Given the description of an element on the screen output the (x, y) to click on. 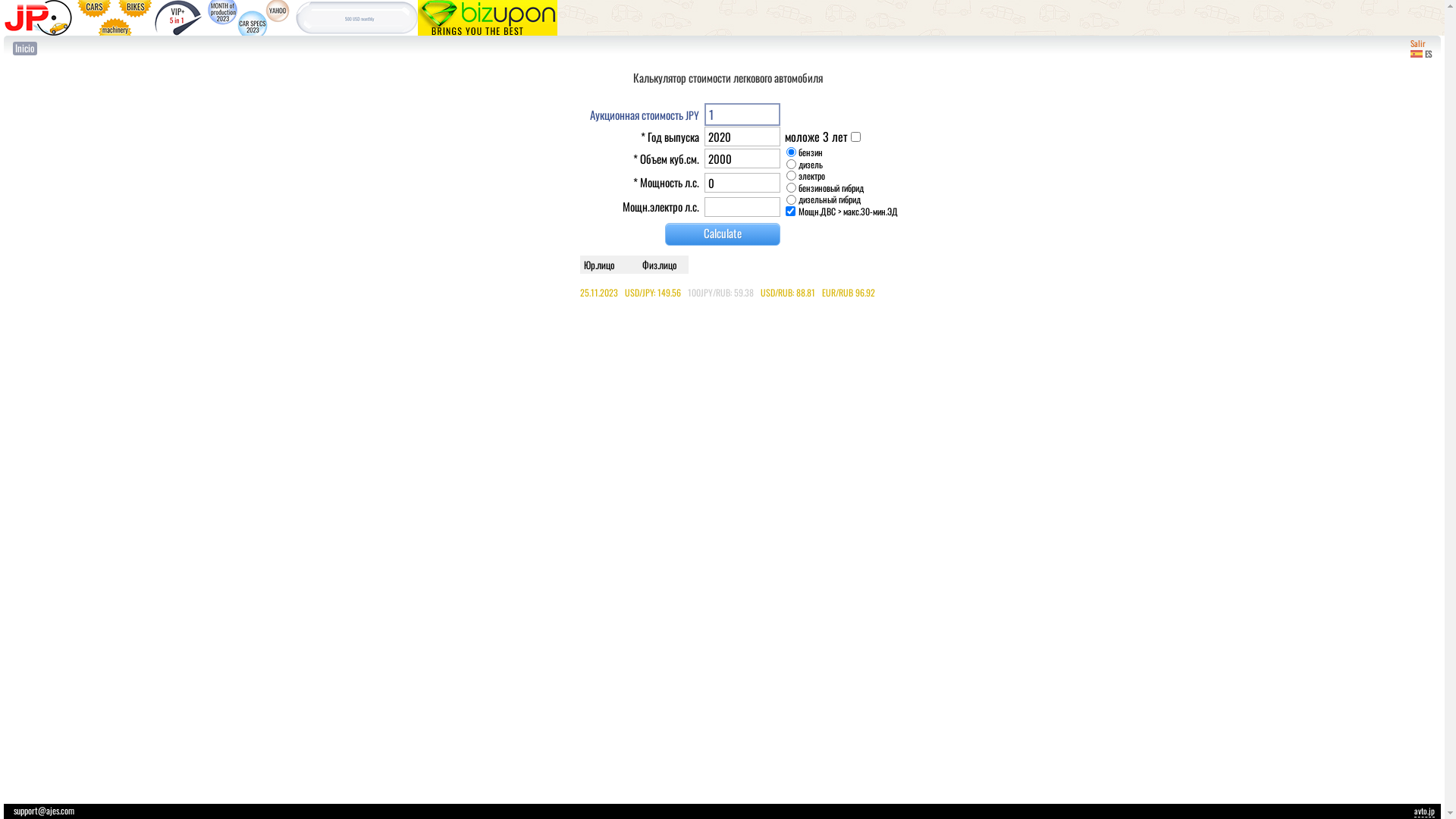
support@ajes.com Element type: text (43, 809)
 Inicio  Element type: text (24, 48)
Calculate Element type: text (721, 233)
 ES Element type: text (1420, 53)
avto.jp Element type: text (1424, 810)
Salir Element type: text (1417, 43)
